Given the description of an element on the screen output the (x, y) to click on. 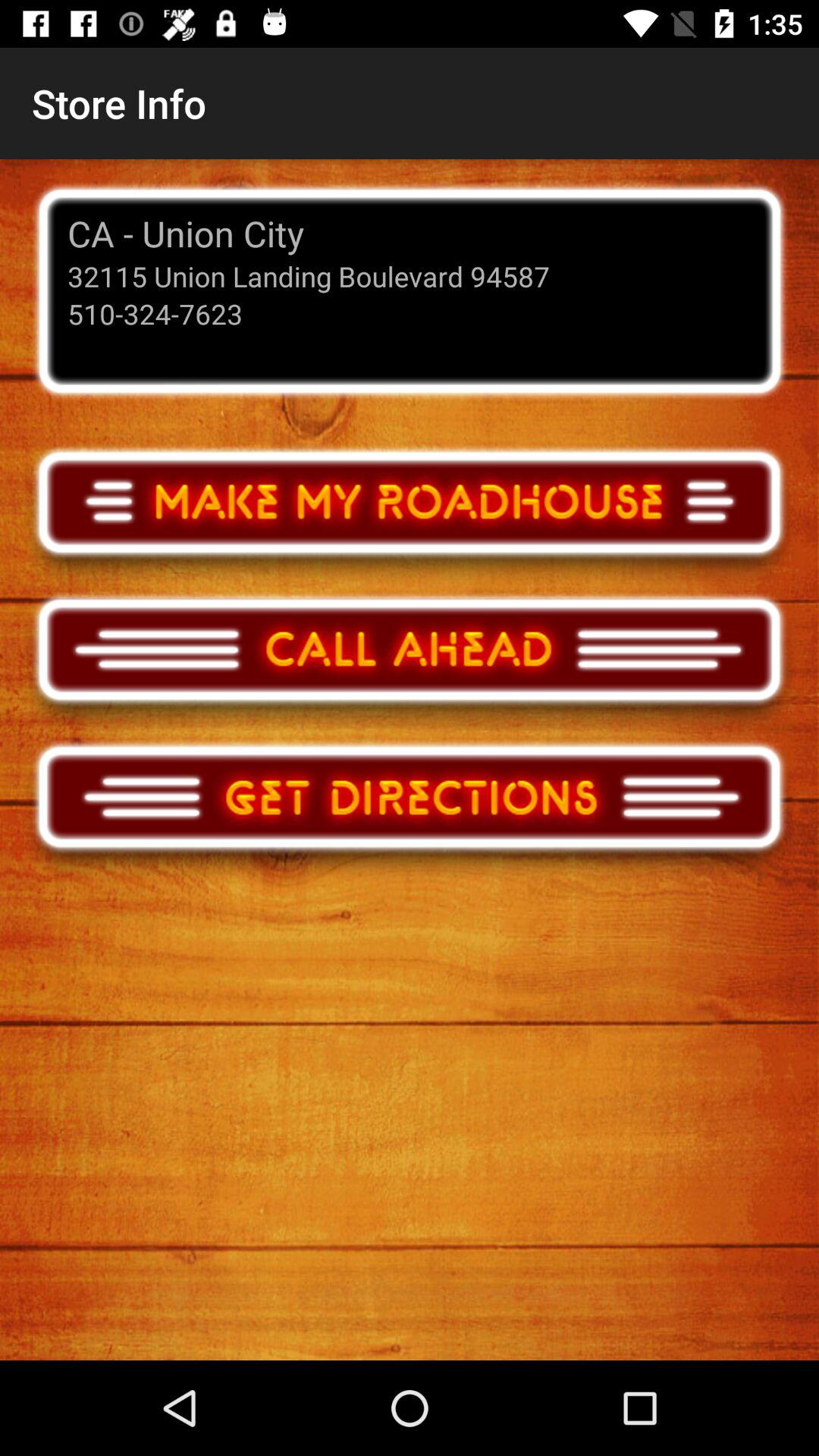
click to call ahead (409, 663)
